Given the description of an element on the screen output the (x, y) to click on. 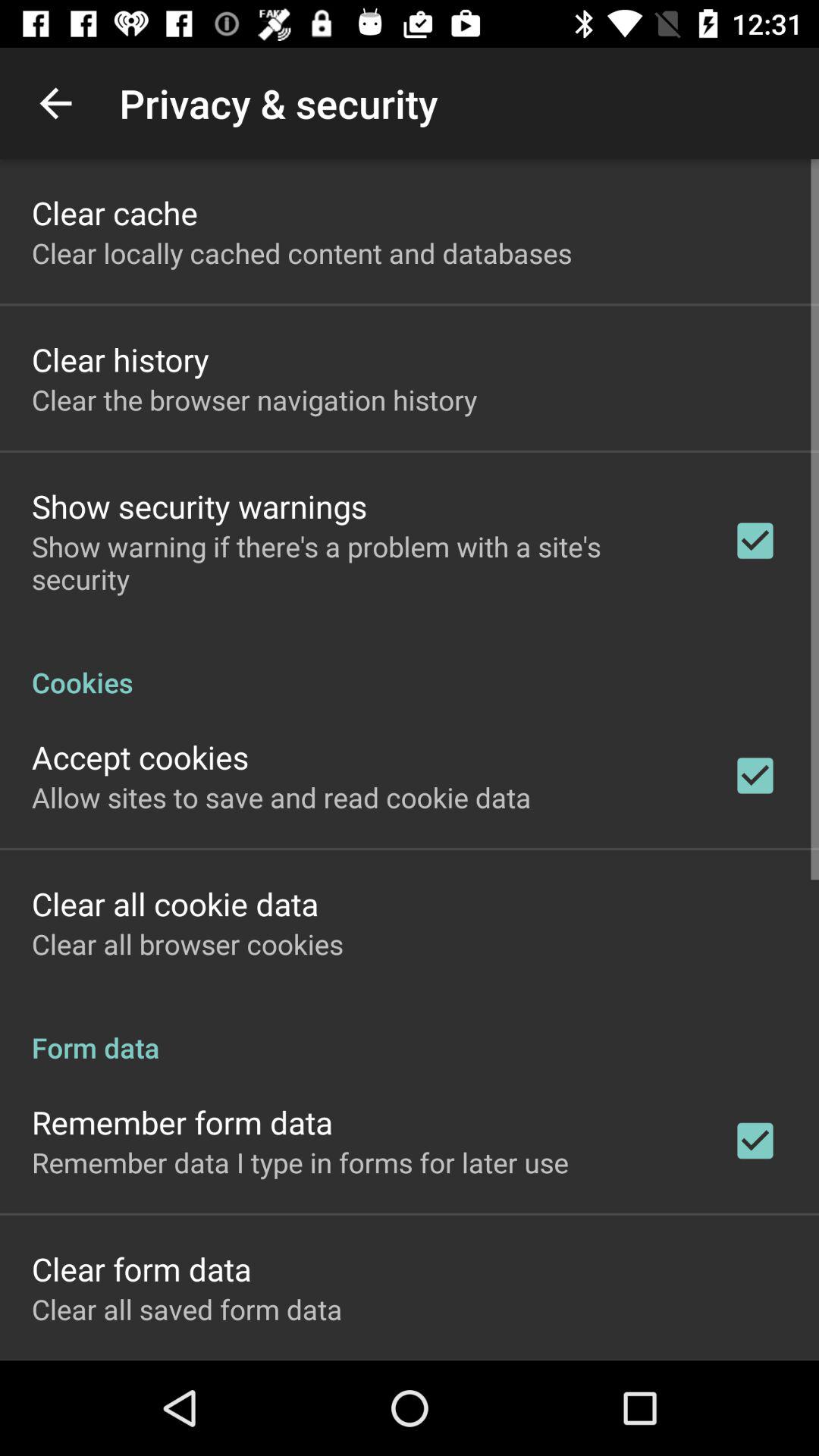
open app to the left of the privacy & security item (55, 103)
